Given the description of an element on the screen output the (x, y) to click on. 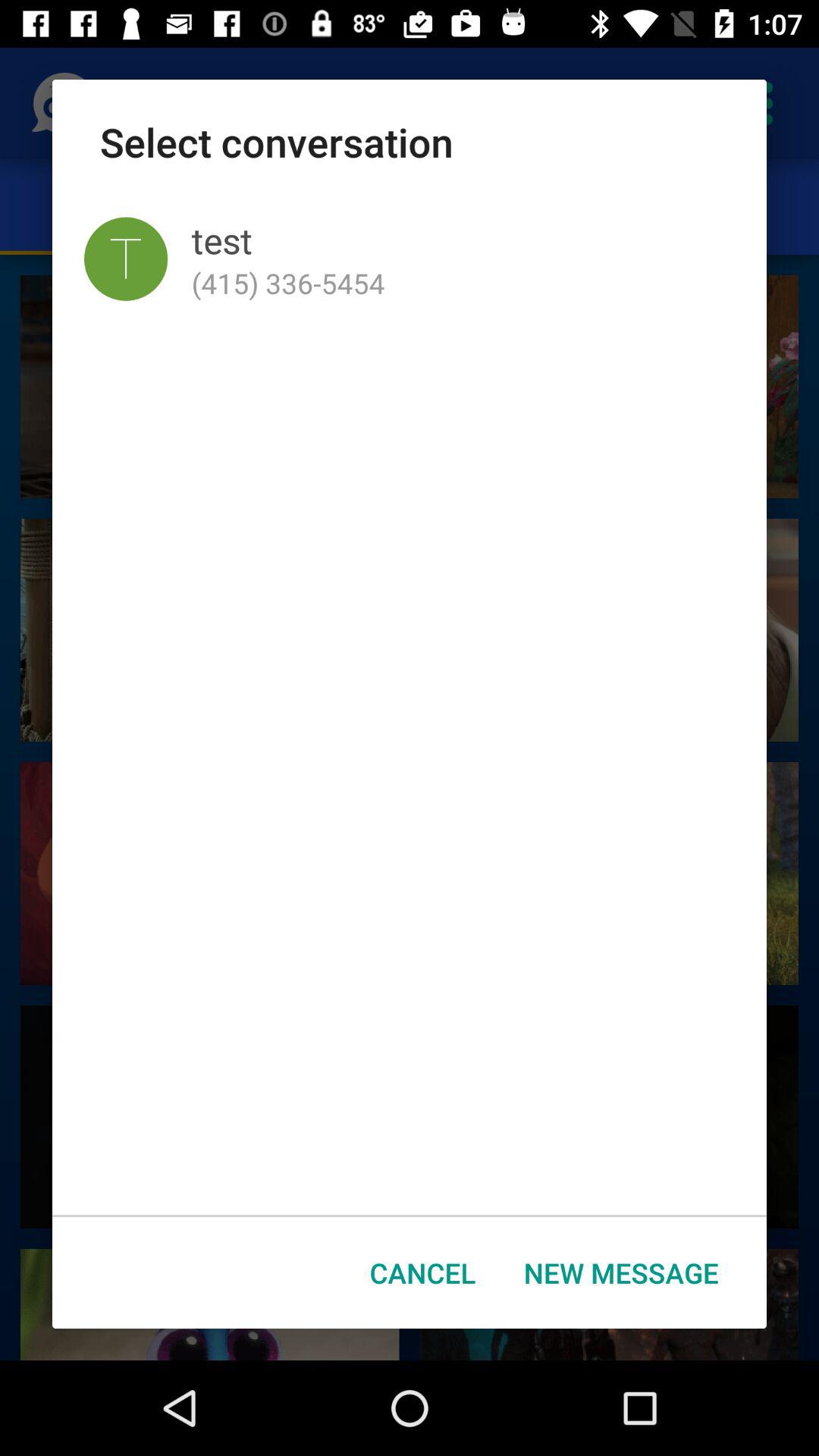
tap the new message button (620, 1272)
